Given the description of an element on the screen output the (x, y) to click on. 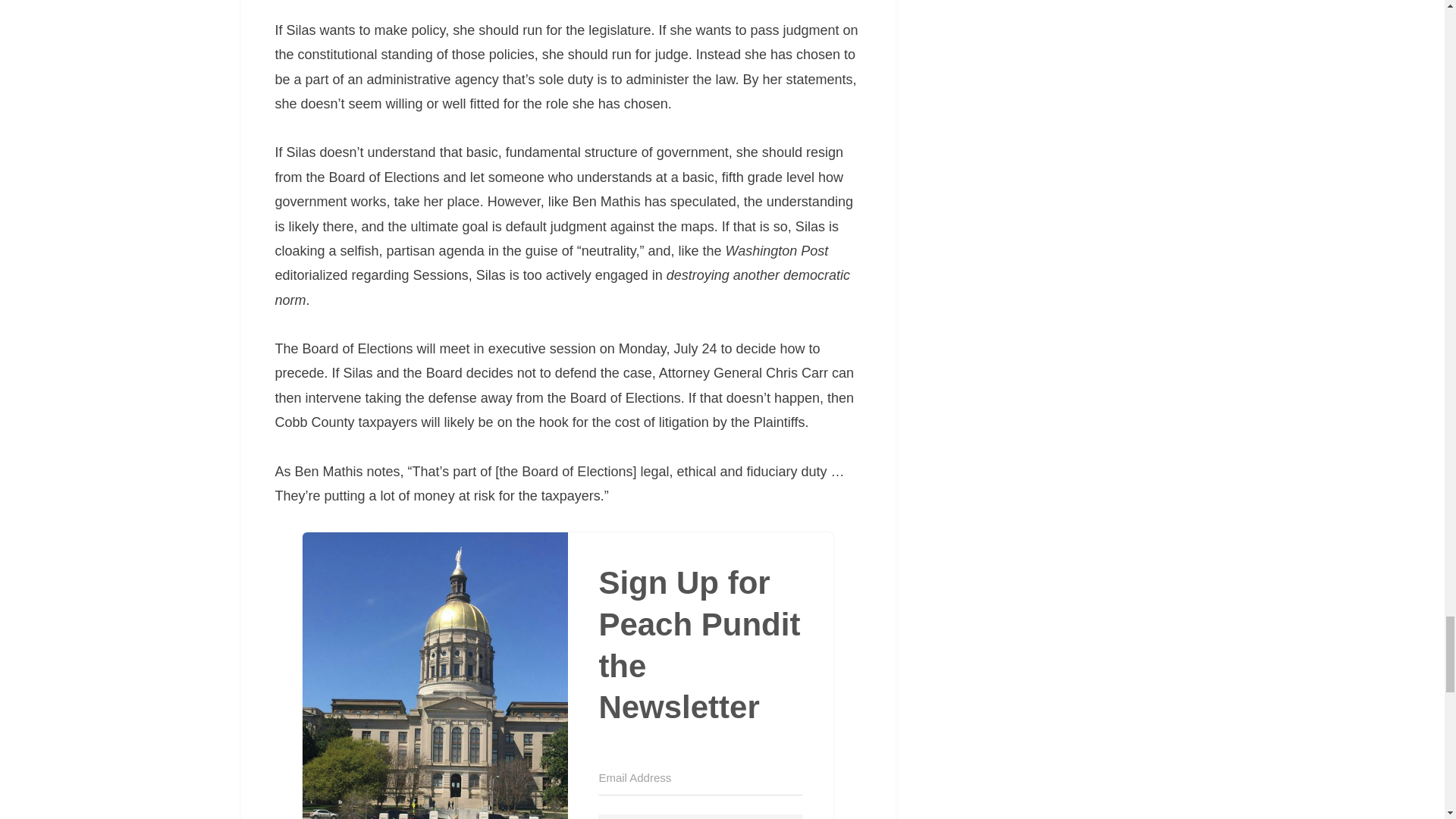
Sign Up (700, 816)
